Given the description of an element on the screen output the (x, y) to click on. 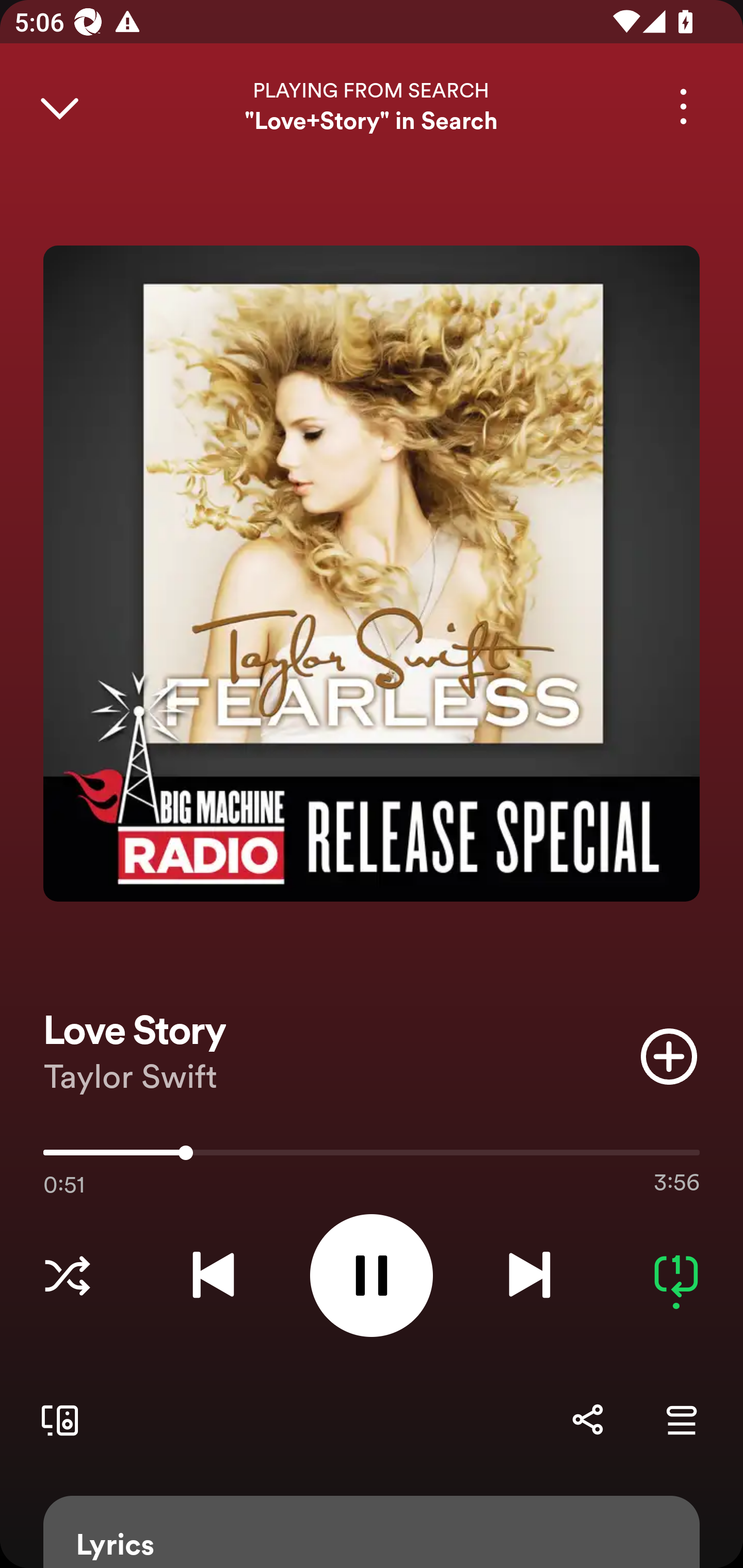
Close (59, 106)
More options for song Love Story (683, 106)
PLAYING FROM SEARCH "Love+Story" in Search (371, 106)
Add item (669, 1056)
0:51 3:56 51050.0 Use volume keys to adjust (371, 1157)
Pause (371, 1275)
Previous (212, 1275)
Next (529, 1275)
Choose a Listening Mode (66, 1275)
Repeat (676, 1275)
Share (587, 1419)
Go to Queue (681, 1419)
Connect to a device. Opens the devices menu (55, 1419)
Lyrics (371, 1531)
